Given the description of an element on the screen output the (x, y) to click on. 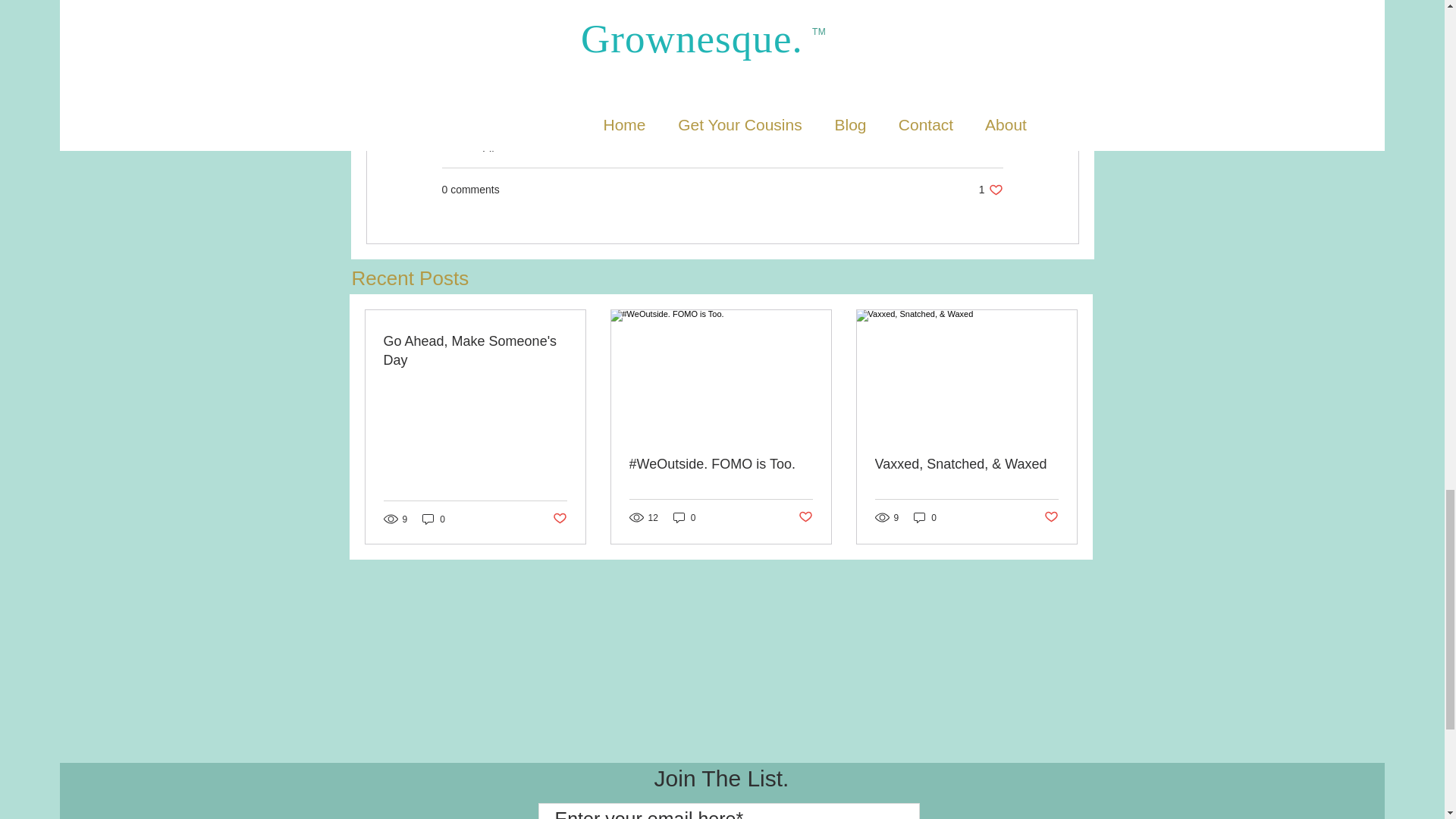
Go Ahead, Make Someone's Day (475, 351)
Post not marked as liked (990, 189)
0 (804, 517)
Post not marked as liked (433, 518)
0 (1050, 517)
Post not marked as liked (924, 517)
0 (558, 519)
